Given the description of an element on the screen output the (x, y) to click on. 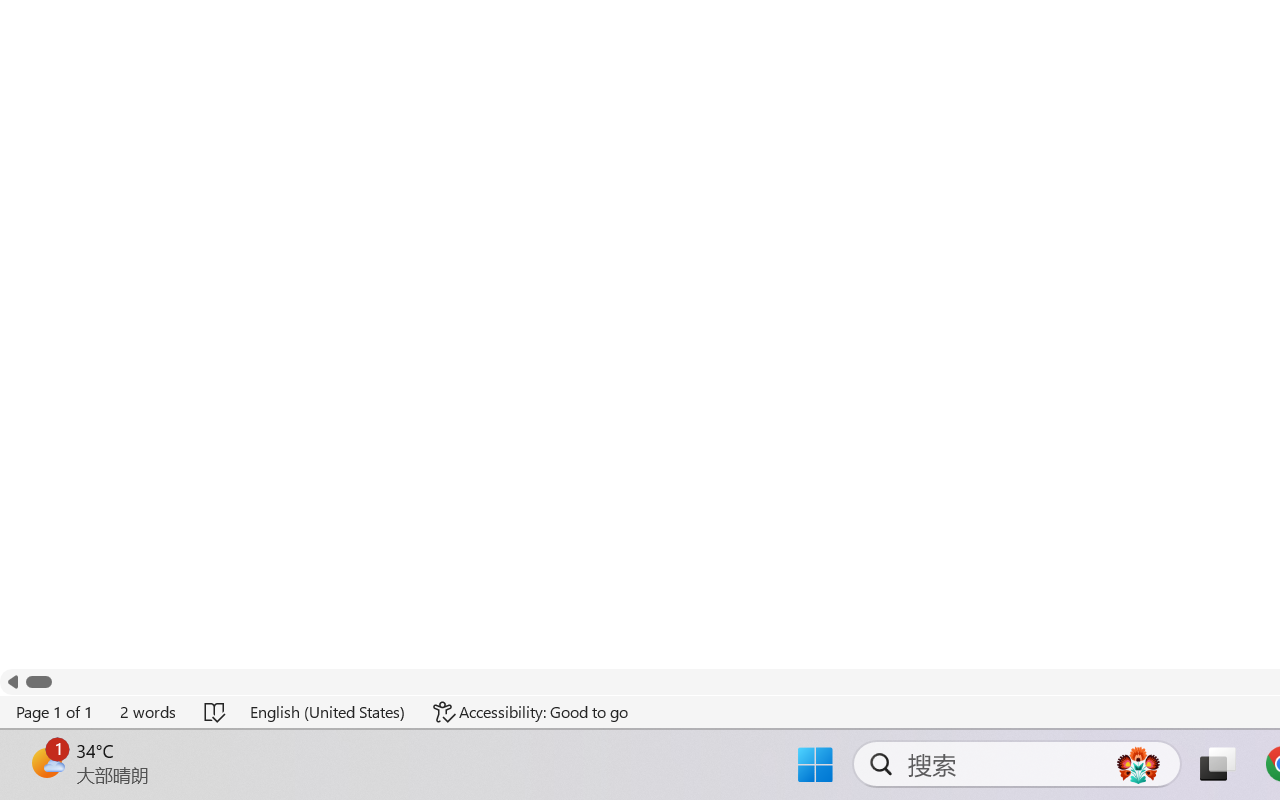
AutomationID: BadgeAnchorLargeTicker (46, 762)
Language English (United States) (328, 712)
AutomationID: DynamicSearchBoxGleamImage (1138, 764)
Spelling and Grammar Check No Errors (216, 712)
Word Count 2 words (149, 712)
Accessibility Checker Accessibility: Good to go (531, 712)
Page Number Page 1 of 1 (55, 712)
Column left (12, 681)
